Given the description of an element on the screen output the (x, y) to click on. 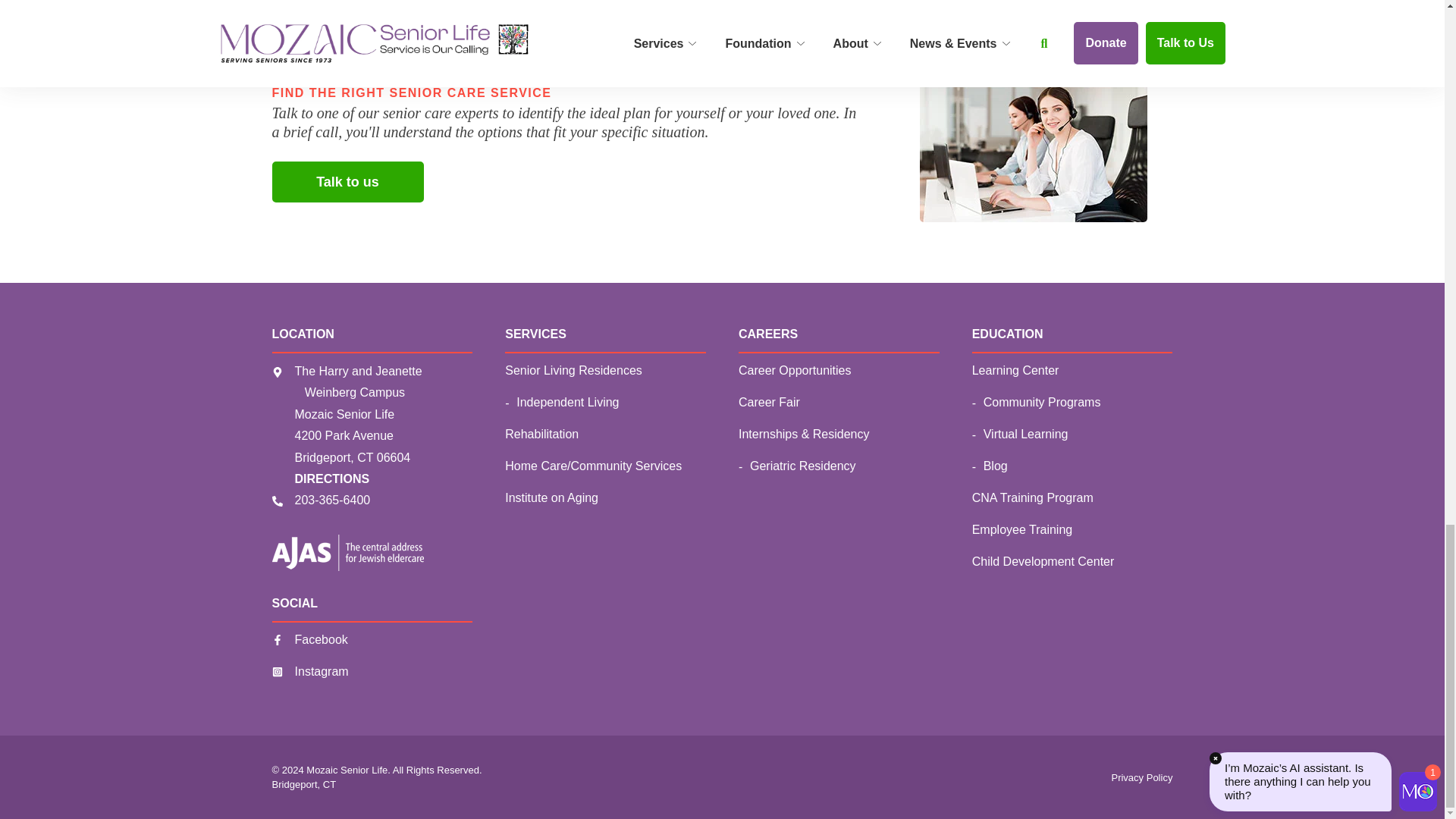
Follow Us on Instagram (310, 673)
Like us on Facebook (309, 641)
